Given the description of an element on the screen output the (x, y) to click on. 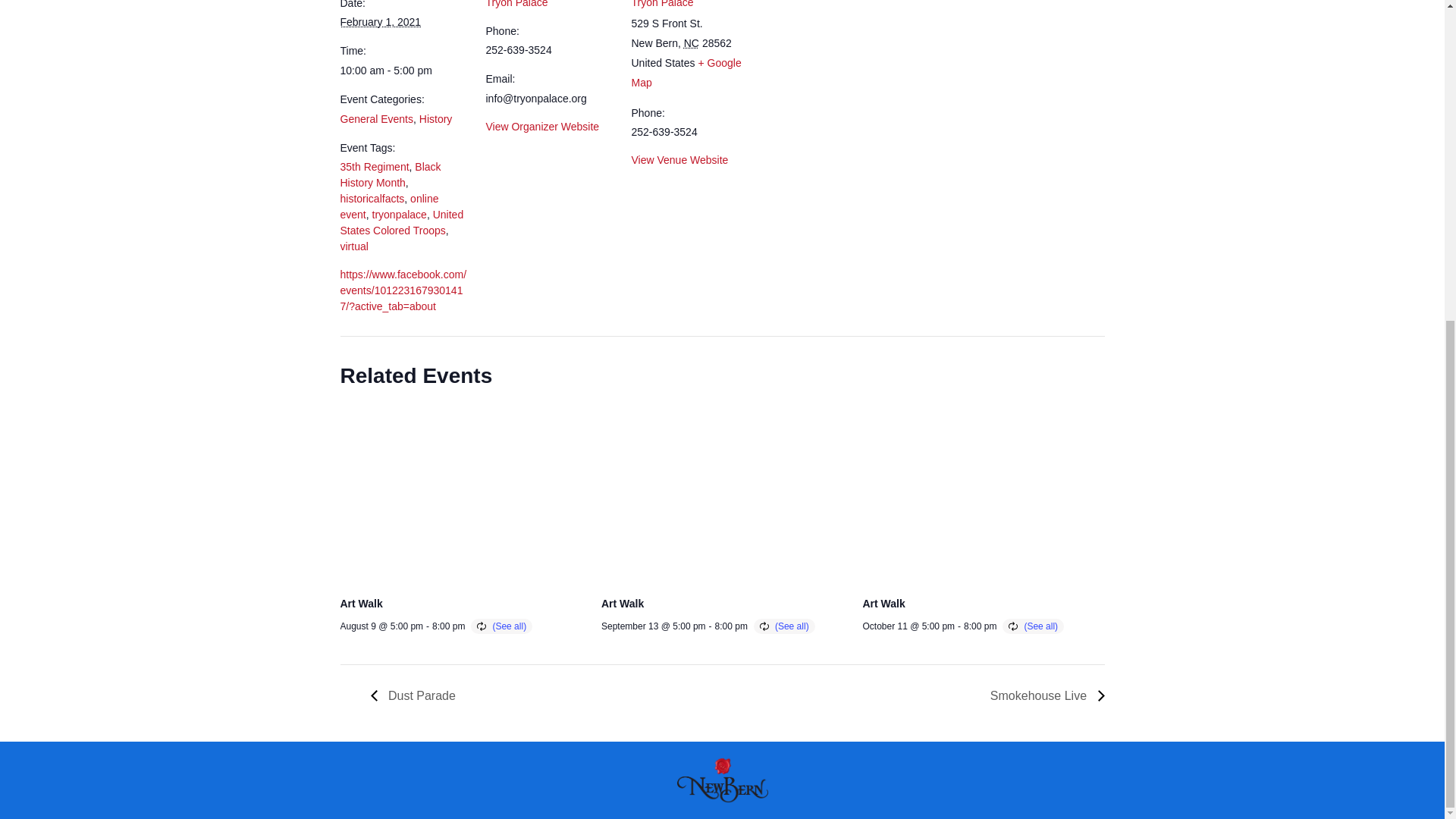
Tryon Palace (661, 4)
online event (388, 206)
2021-02-01 (379, 21)
General Events (376, 119)
Dust Parade (416, 695)
North Carolina (691, 42)
Click to view a Google Map (685, 72)
Art Walk (360, 603)
2021-02-01 (403, 70)
tryonpalace (399, 214)
United States Colored Troops (401, 222)
History (435, 119)
View Venue Website (679, 159)
35th Regiment (374, 166)
historicalfacts (371, 198)
